Given the description of an element on the screen output the (x, y) to click on. 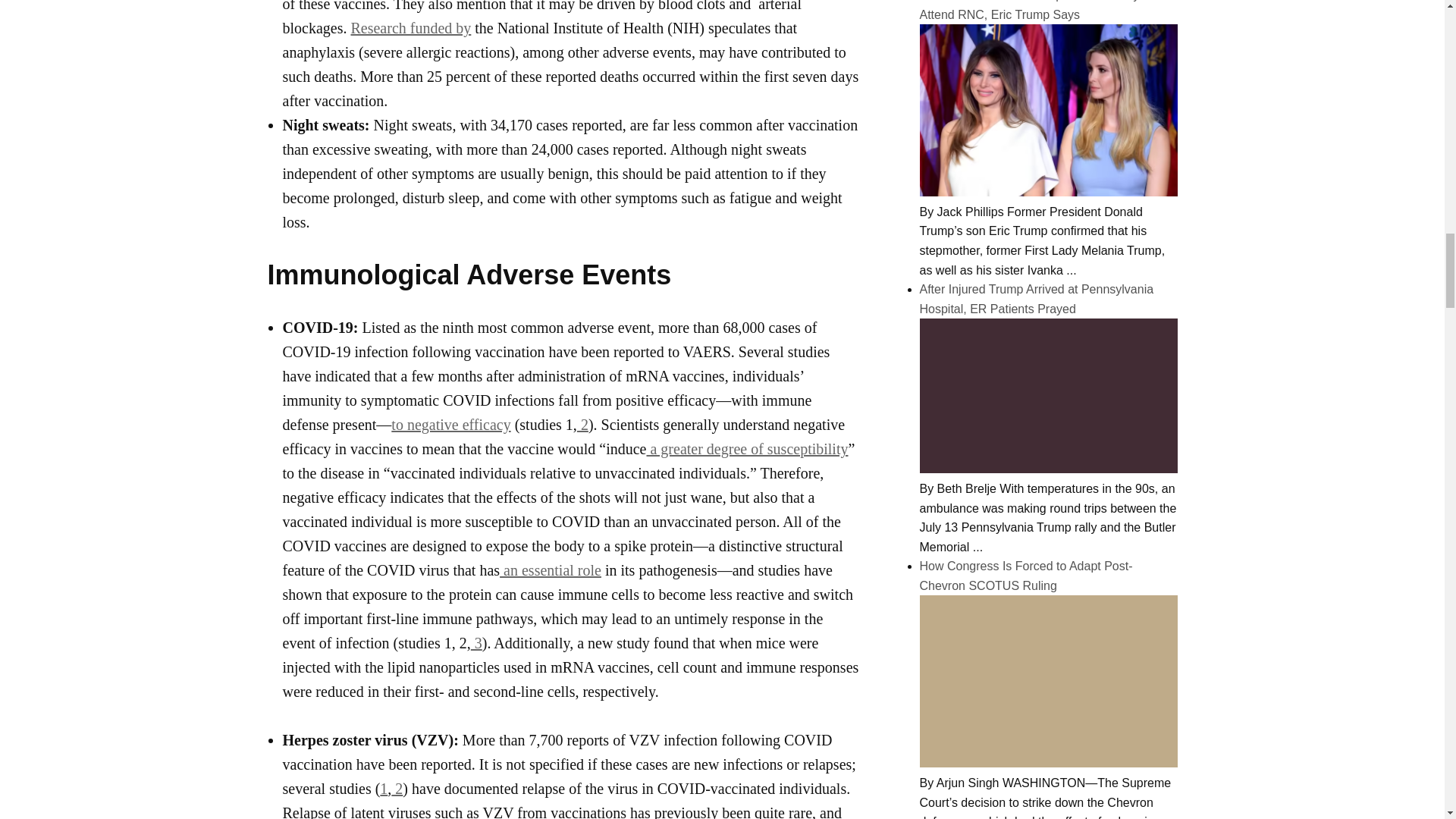
How Congress Is Forced to Adapt Post-Chevron SCOTUS Ruling (1047, 762)
